Given the description of an element on the screen output the (x, y) to click on. 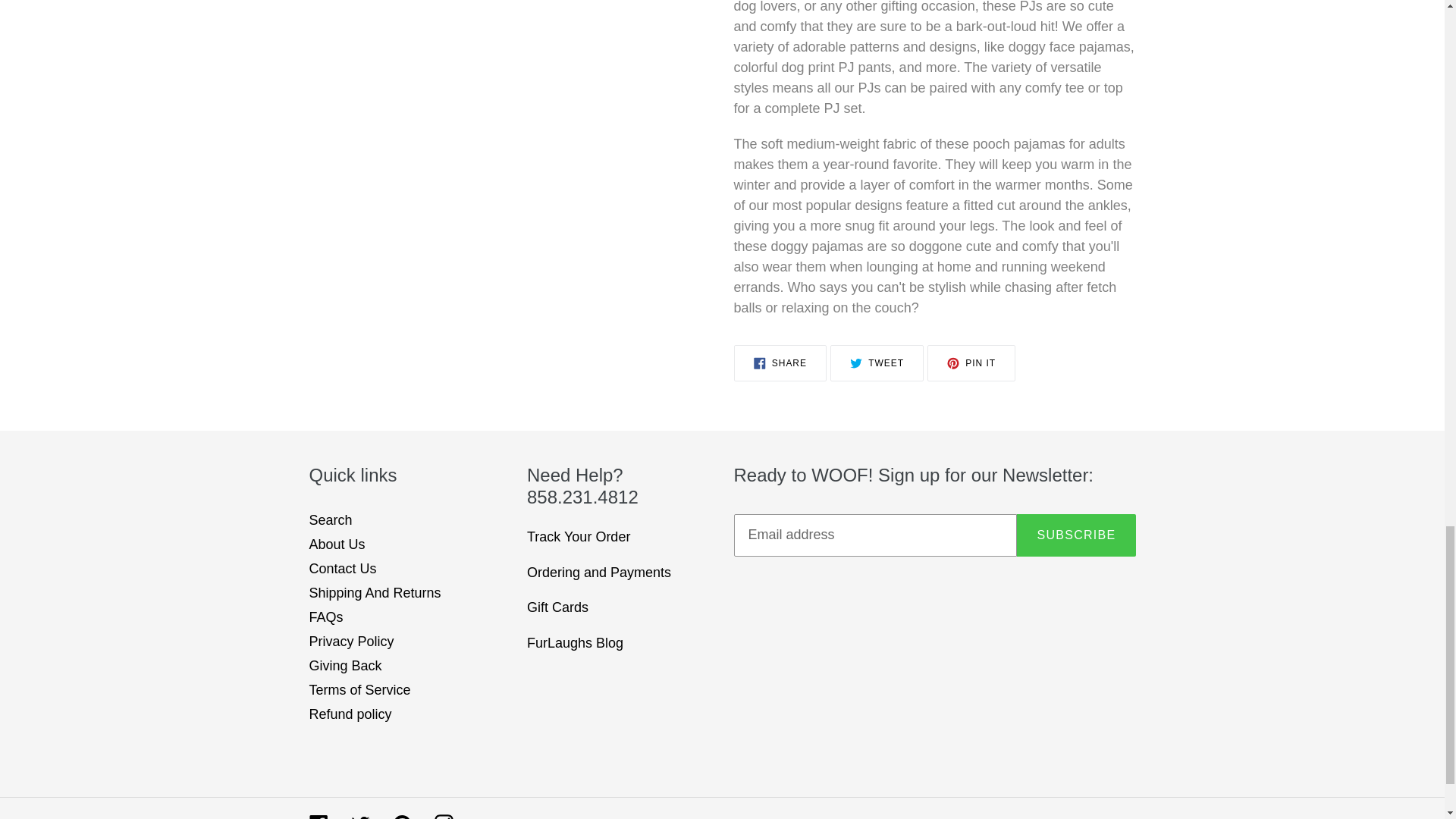
FurLaughs (970, 362)
